Given the description of an element on the screen output the (x, y) to click on. 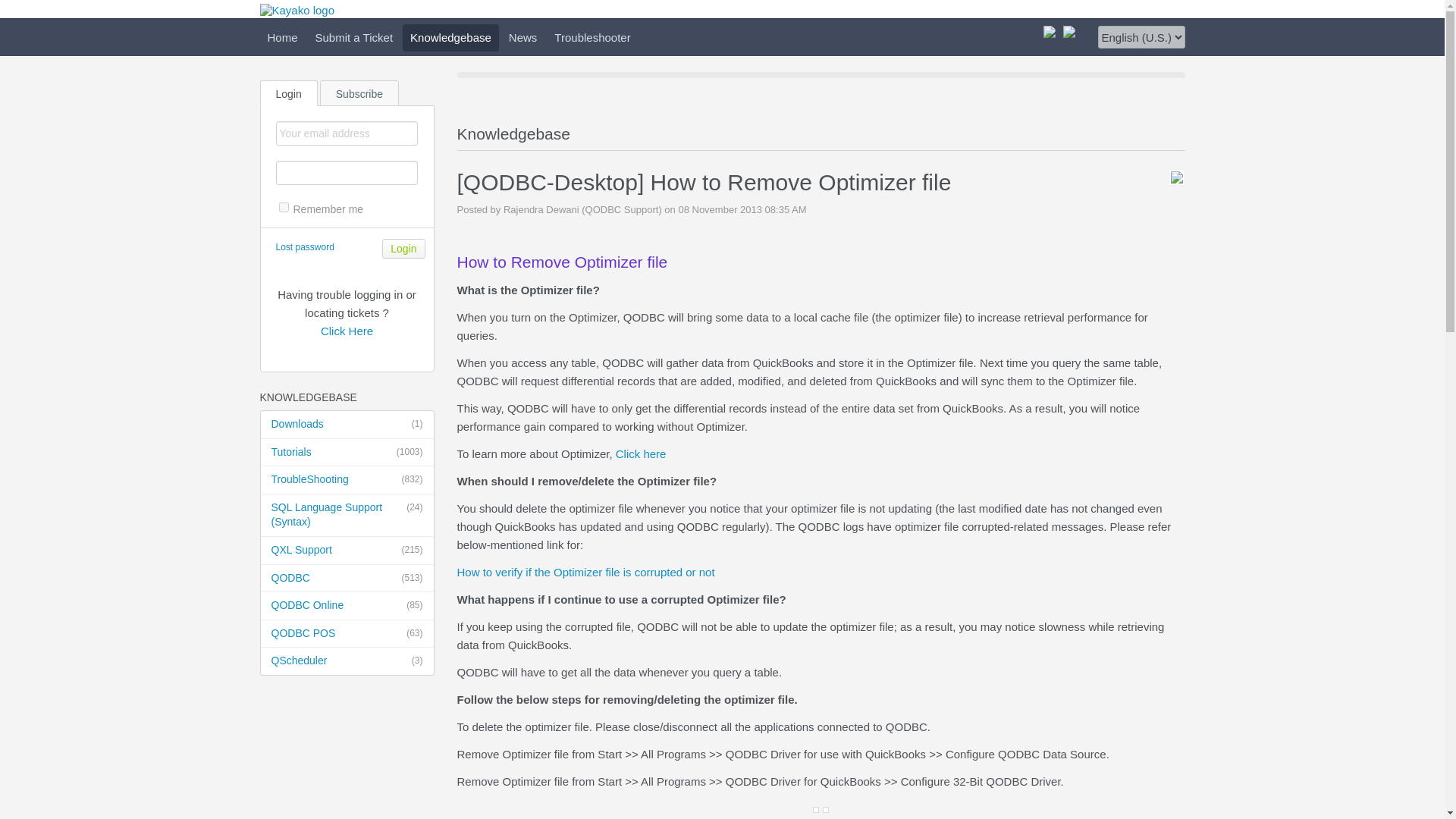
Lost password (305, 246)
Your email address (346, 133)
Home (281, 37)
Login (288, 92)
Troubleshooter (592, 37)
Knowledgebase (451, 37)
How to verify if the Optimizer file is corrupted or not (585, 571)
News (522, 37)
Submit a Ticket (354, 37)
Subscribe (360, 92)
Login (403, 248)
Login (403, 248)
Click Here (346, 330)
1 (283, 207)
Click here (640, 453)
